Given the description of an element on the screen output the (x, y) to click on. 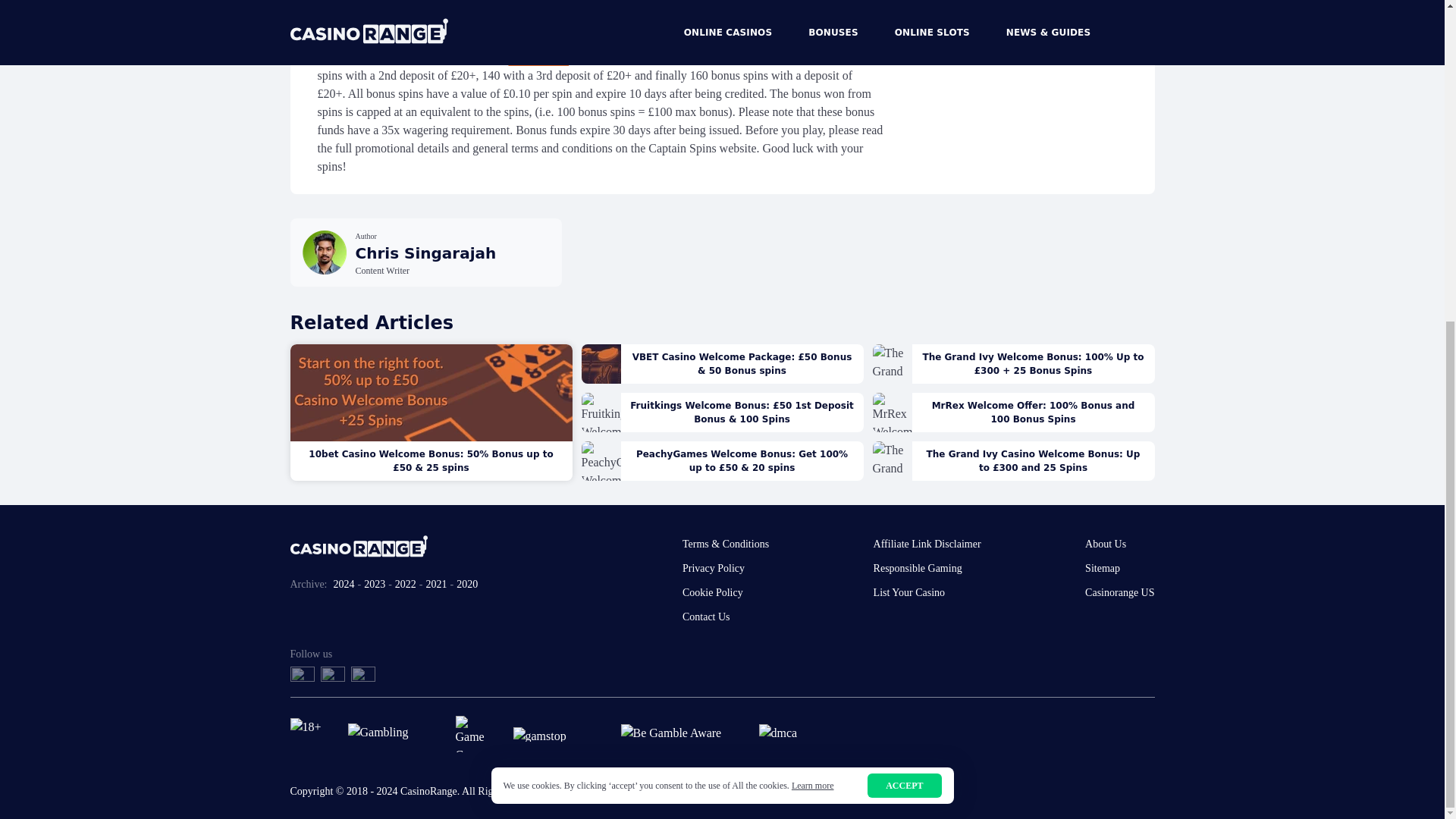
bonus spins (538, 56)
